Given the description of an element on the screen output the (x, y) to click on. 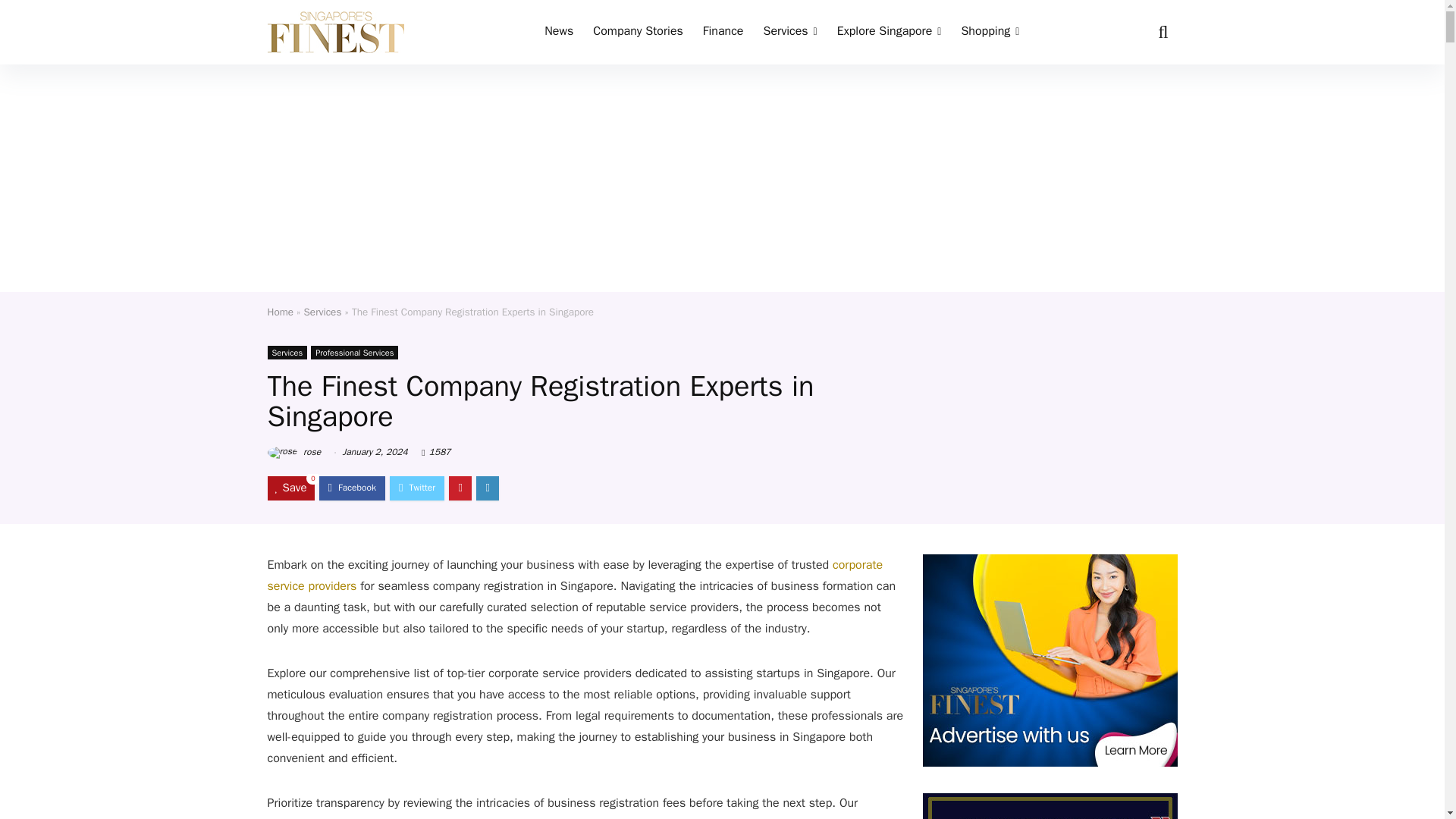
Services (789, 32)
View all posts in Services (286, 352)
View all posts in Professional Services (354, 352)
Explore Singapore (889, 32)
News (558, 32)
Finance (723, 32)
Shopping (989, 32)
Company Stories (638, 32)
